Given the description of an element on the screen output the (x, y) to click on. 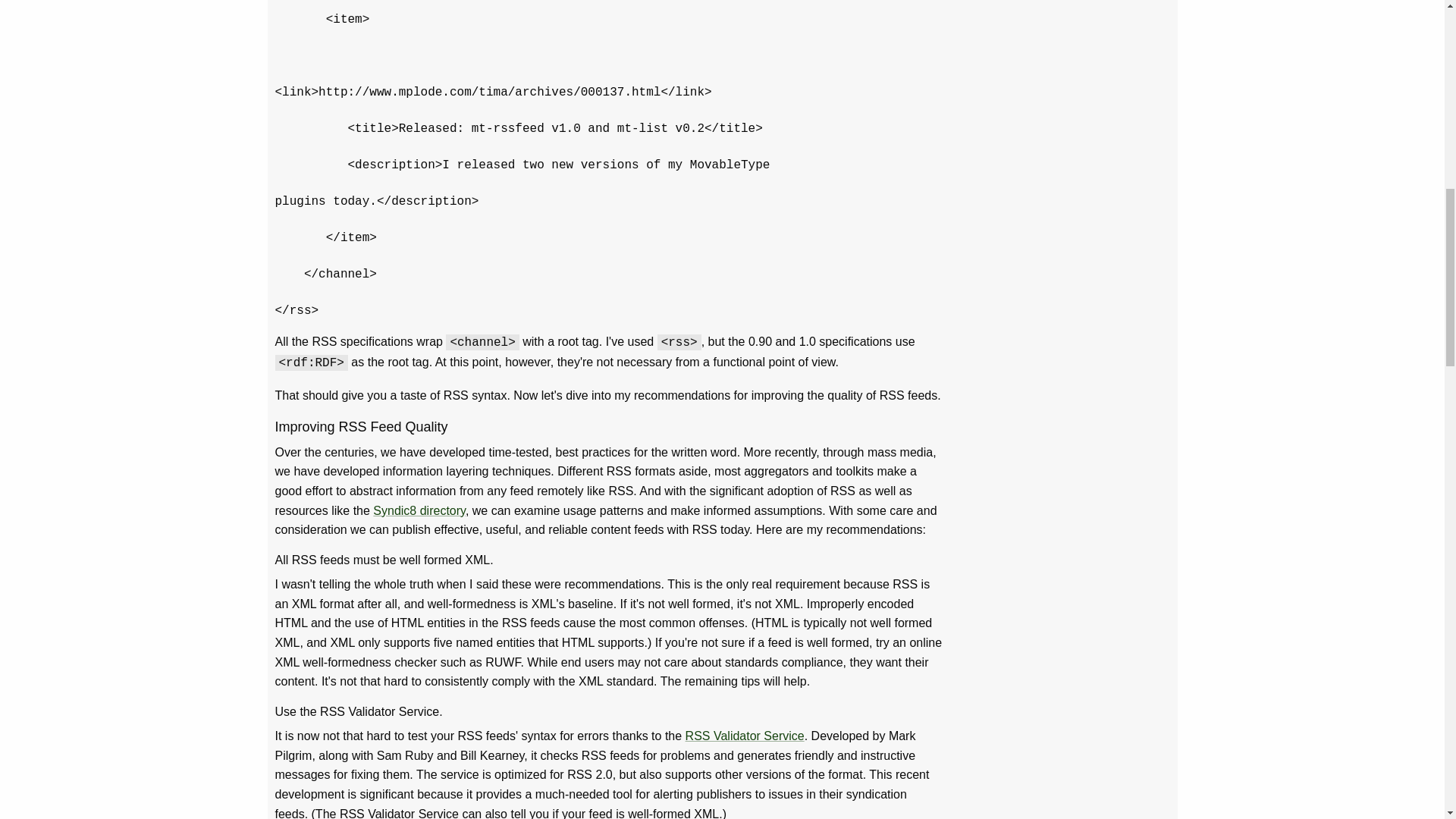
Syndic8 directory (418, 510)
RSS Validator Service (745, 735)
